Given the description of an element on the screen output the (x, y) to click on. 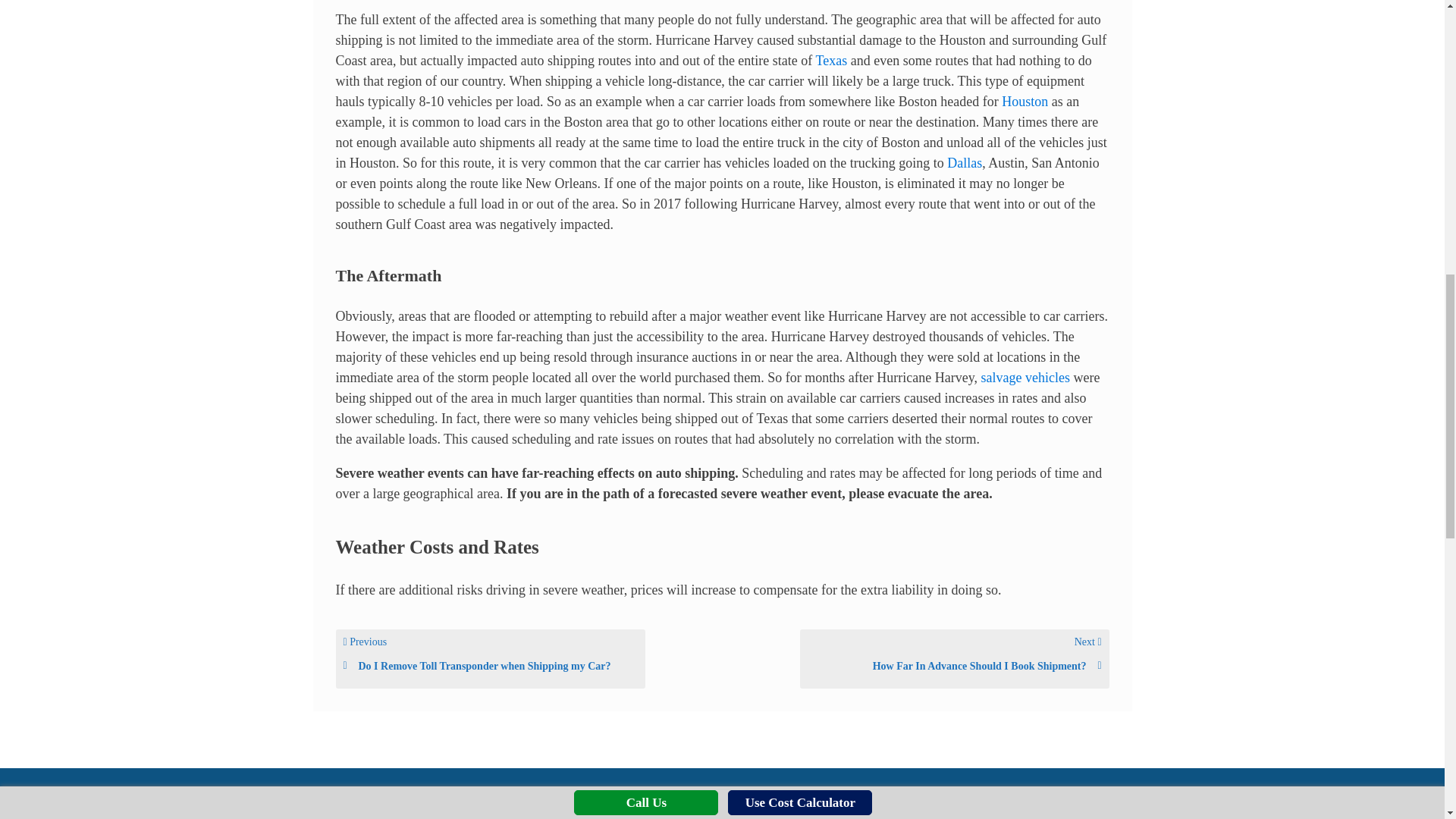
How Far In Advance Should I Book Shipment? (953, 666)
Do I Remove Toll Transponder when Shipping my Car? (489, 666)
